Given the description of an element on the screen output the (x, y) to click on. 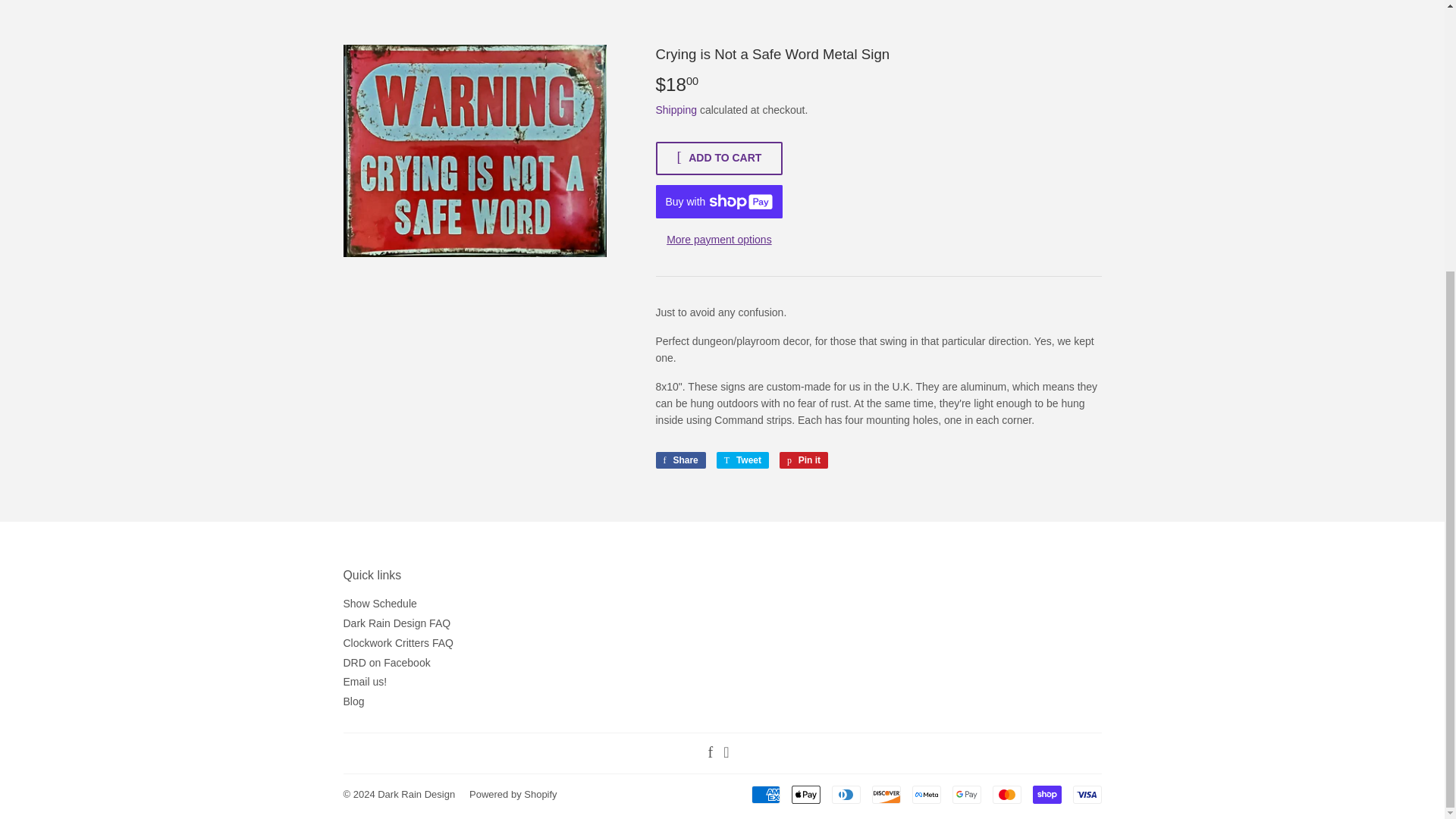
ADD TO CART (719, 158)
Tweet on Twitter (742, 460)
More payment options (719, 239)
Apple Pay (806, 794)
Pin on Pinterest (803, 460)
Google Pay (966, 794)
Discover (886, 794)
Shop Pay (1046, 794)
Meta Pay (925, 794)
